Given the description of an element on the screen output the (x, y) to click on. 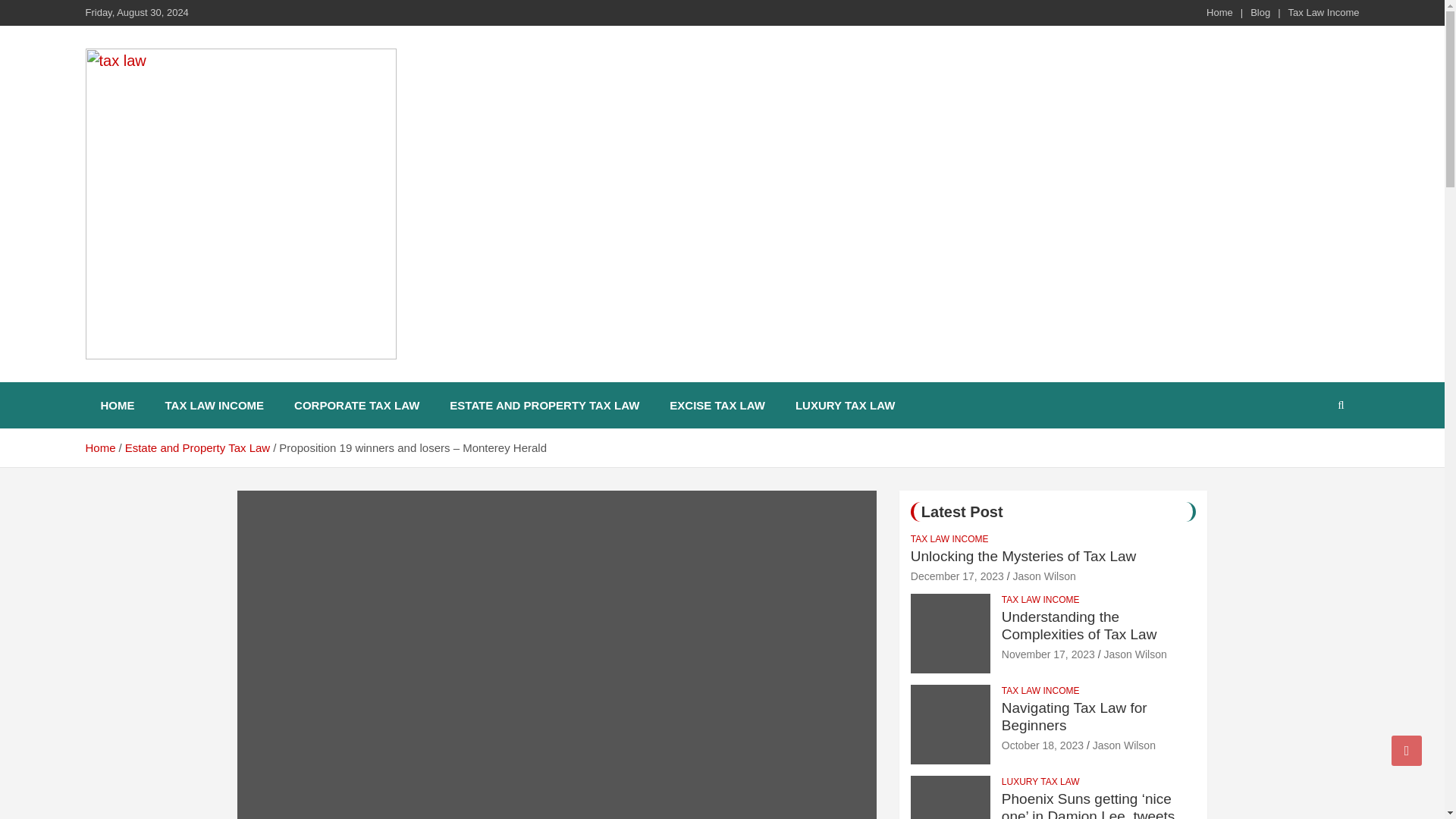
LUXURY TAX LAW (1040, 781)
TAX LAW INCOME (1040, 690)
Understanding the Complexities of Tax Law (1047, 654)
TAX LAW INCOME (214, 405)
Blog (1259, 12)
Home (99, 447)
LUXURY TAX LAW (845, 405)
EXCISE TAX LAW (716, 405)
Jason Wilson (1043, 576)
TAX LAW (151, 378)
